Given the description of an element on the screen output the (x, y) to click on. 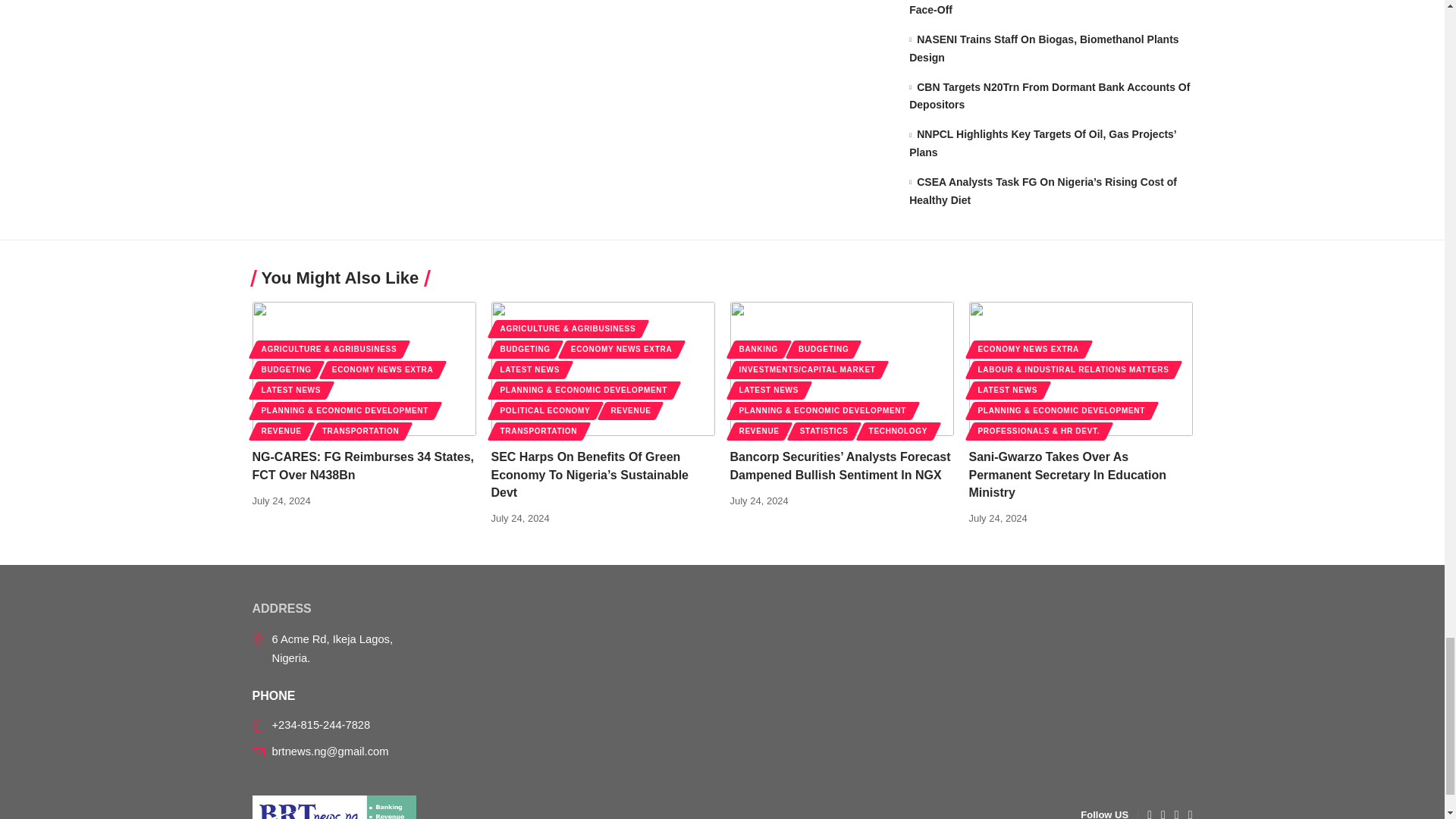
NG-CARES: FG Reimburses 34 States, FCT Over N438Bn (363, 368)
BRT-News (333, 807)
